Given the description of an element on the screen output the (x, y) to click on. 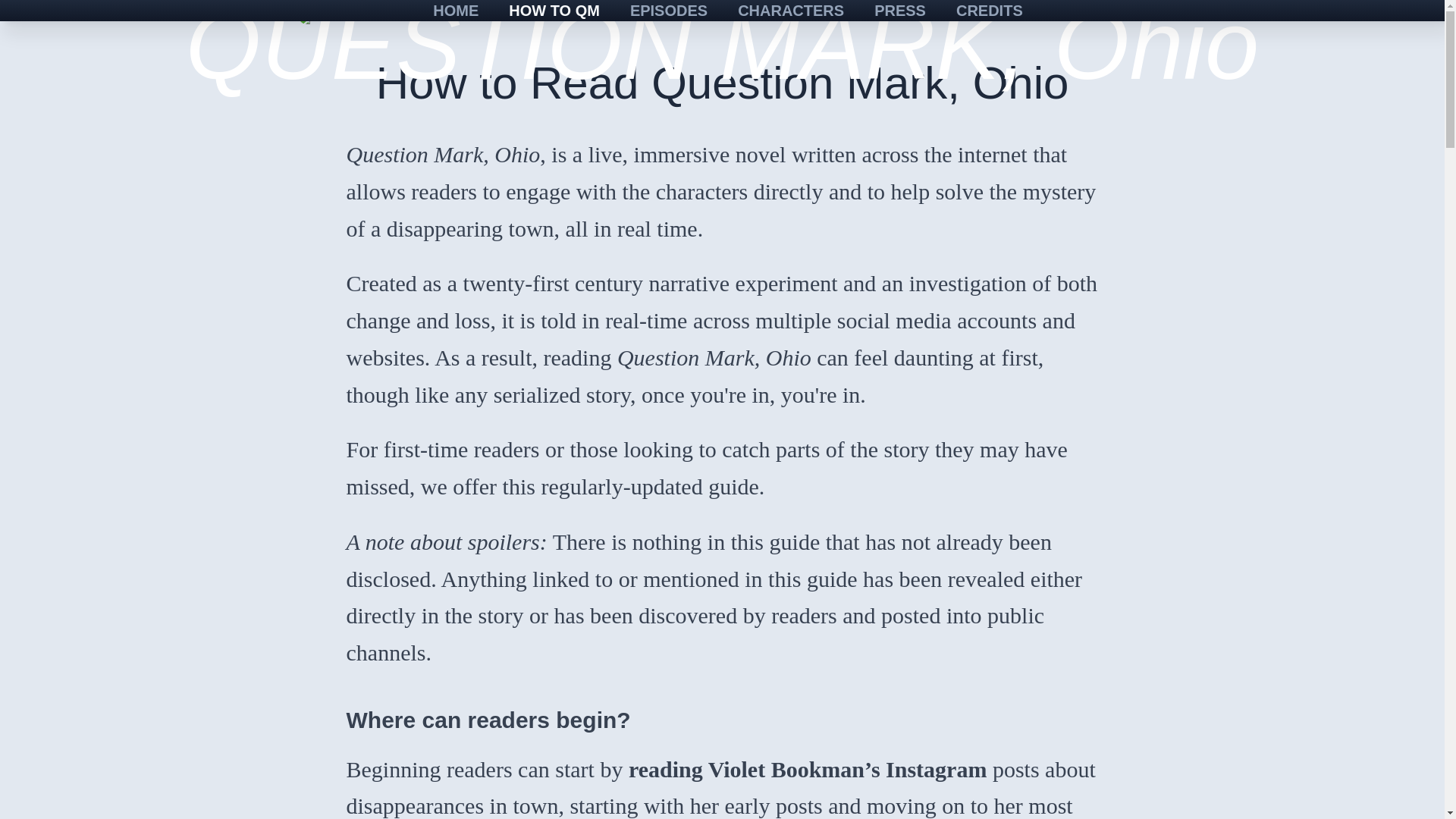
CREDITS (989, 17)
HOW TO QM (553, 17)
HOME (455, 17)
EPISODES (668, 17)
QUESTION MARK, Ohio (722, 18)
PRESS (899, 17)
CHARACTERS (790, 17)
